Given the description of an element on the screen output the (x, y) to click on. 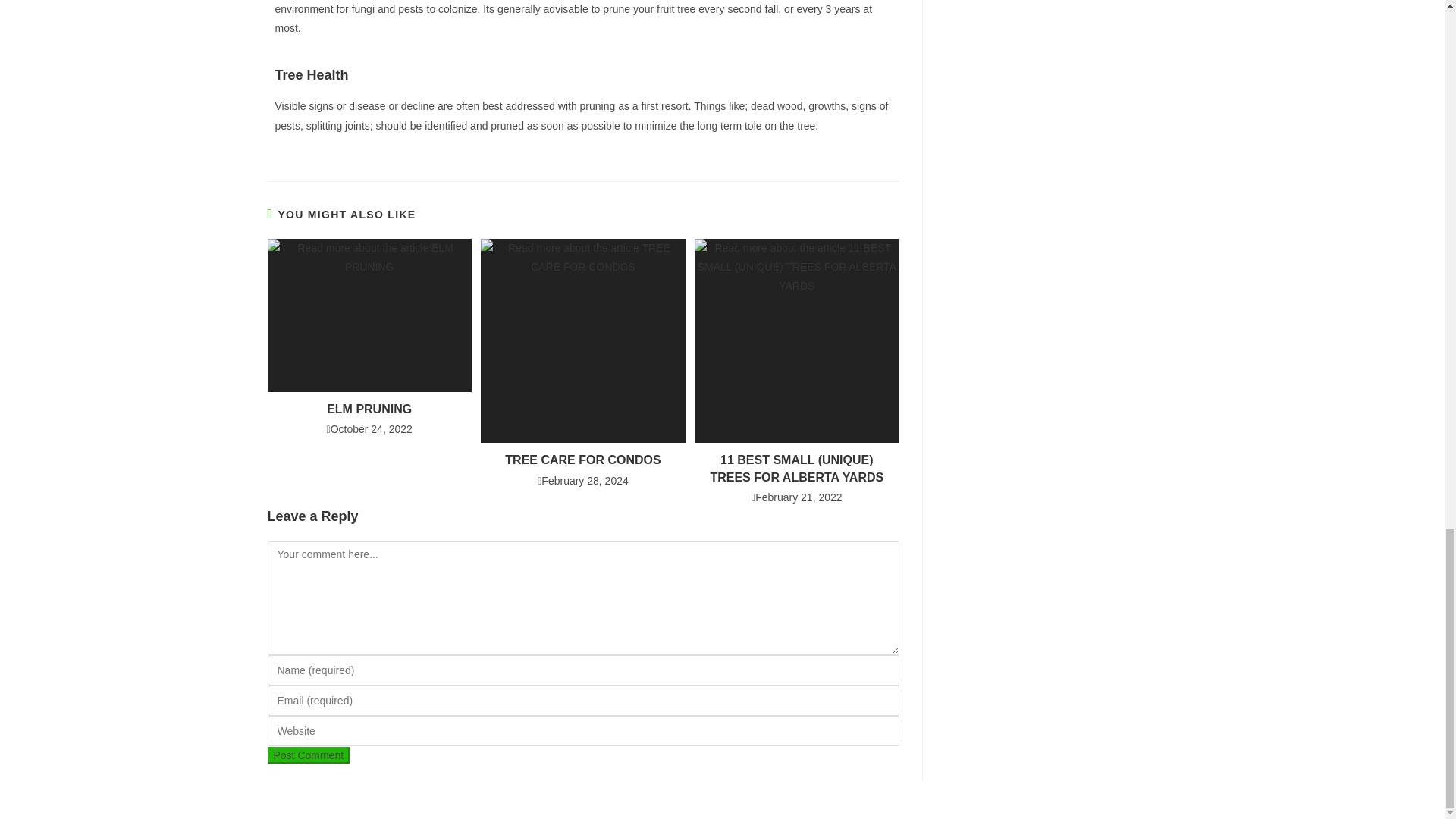
Post Comment (307, 754)
